Given the description of an element on the screen output the (x, y) to click on. 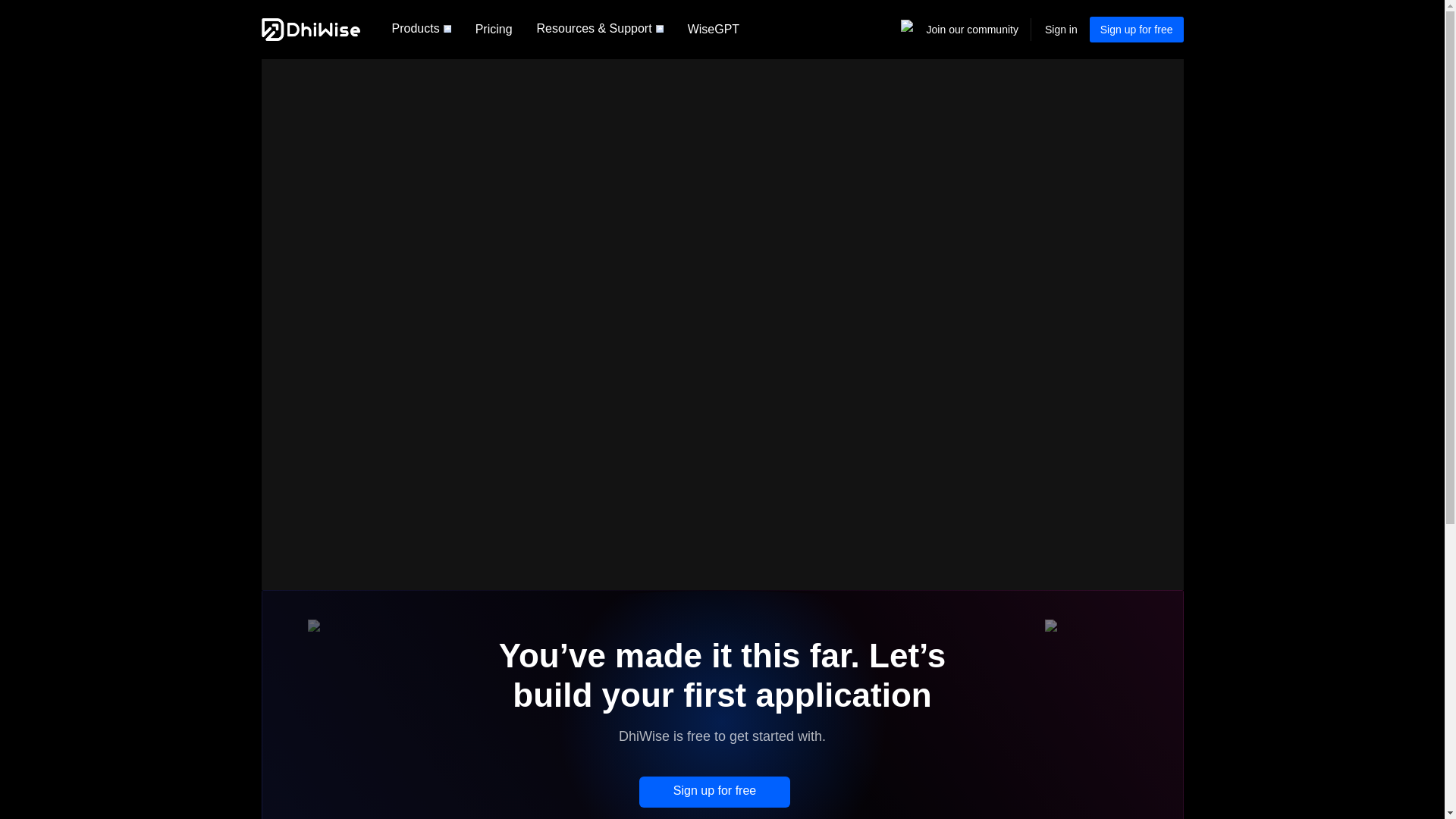
Pricing (493, 29)
Sign up for free (1136, 29)
Sign in (1061, 29)
Join our community (972, 29)
Sign up for free (714, 791)
WiseGPT (713, 29)
